Given the description of an element on the screen output the (x, y) to click on. 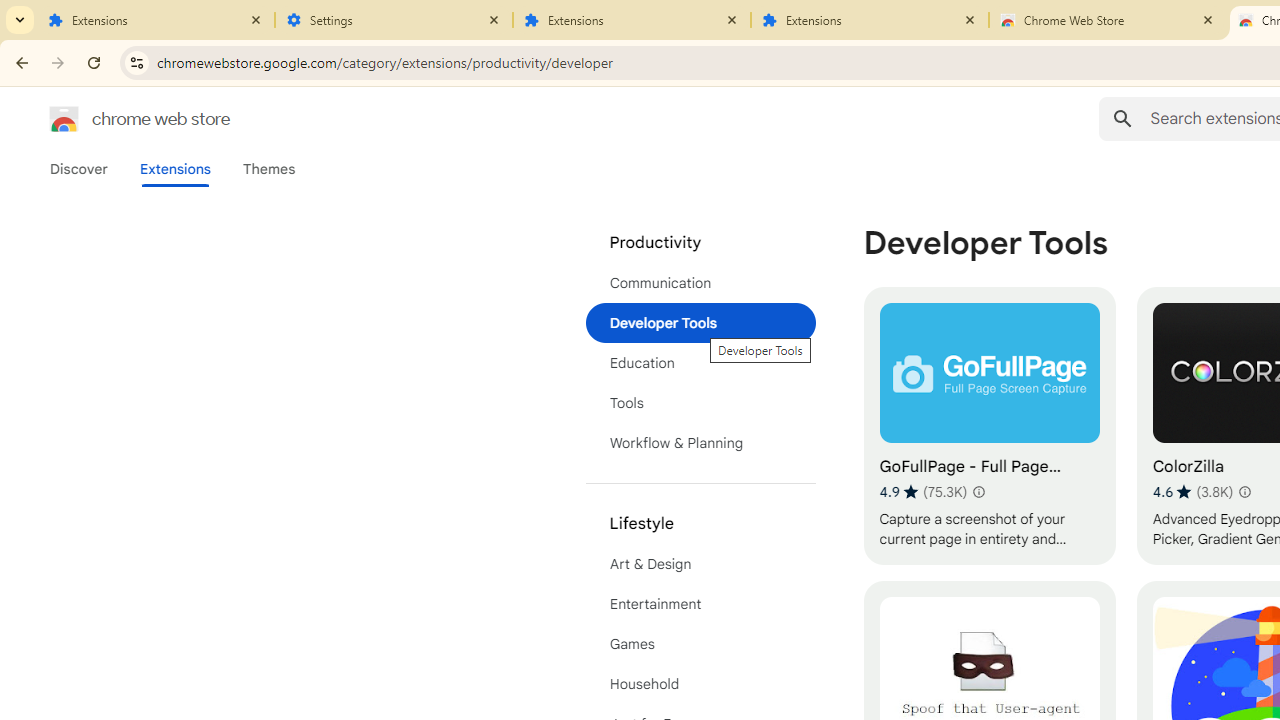
Communication (700, 282)
Education (700, 362)
Entertainment (700, 603)
Extensions (870, 20)
Art & Design (700, 563)
Developer Tools (selected) (700, 322)
GoFullPage - Full Page Screen Capture (989, 426)
Extensions (156, 20)
Extensions (632, 20)
